Given the description of an element on the screen output the (x, y) to click on. 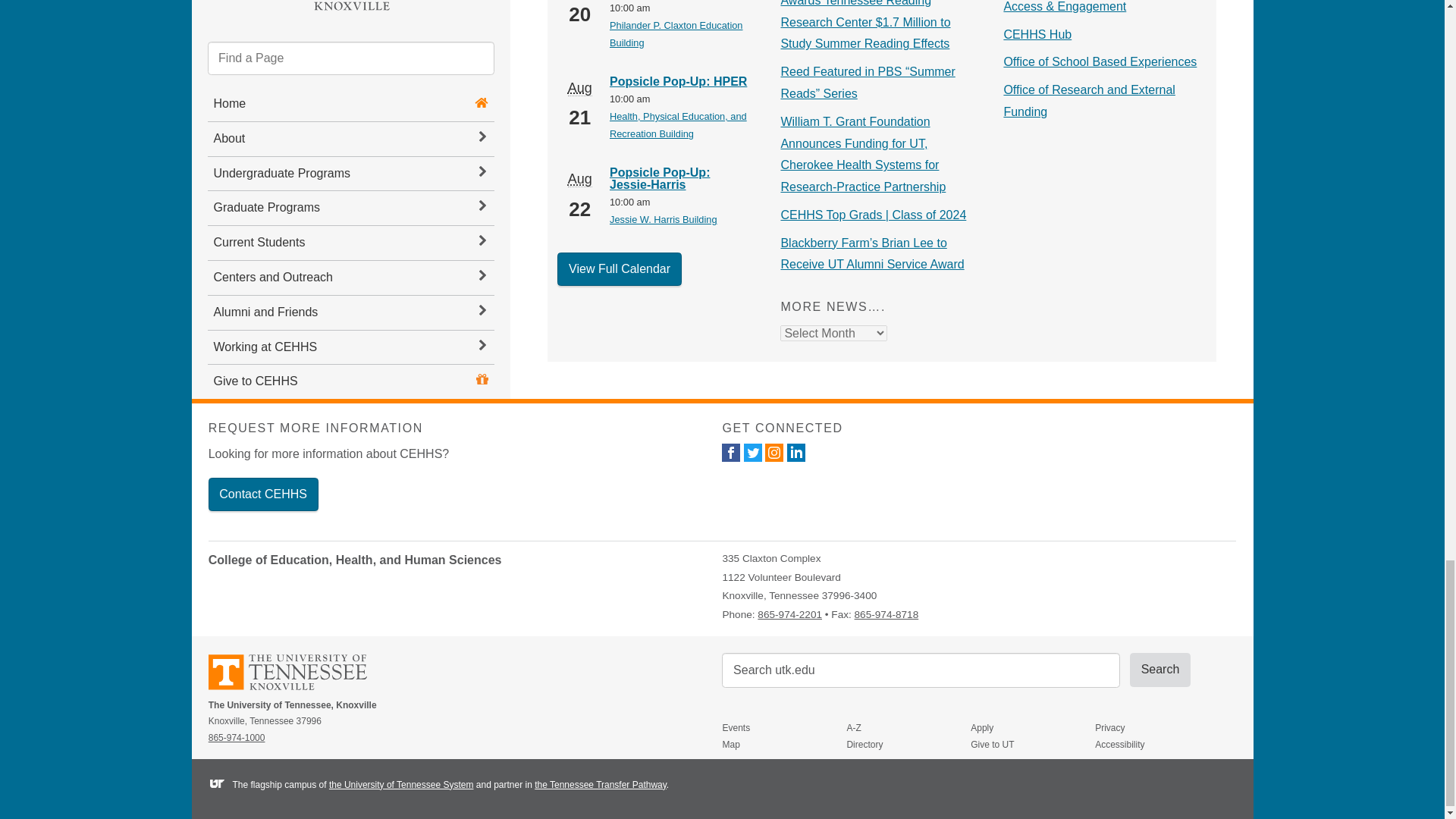
August (579, 179)
Search utk.edu (920, 669)
search (920, 669)
August (579, 88)
Submit (1160, 669)
Search (1160, 669)
